Given the description of an element on the screen output the (x, y) to click on. 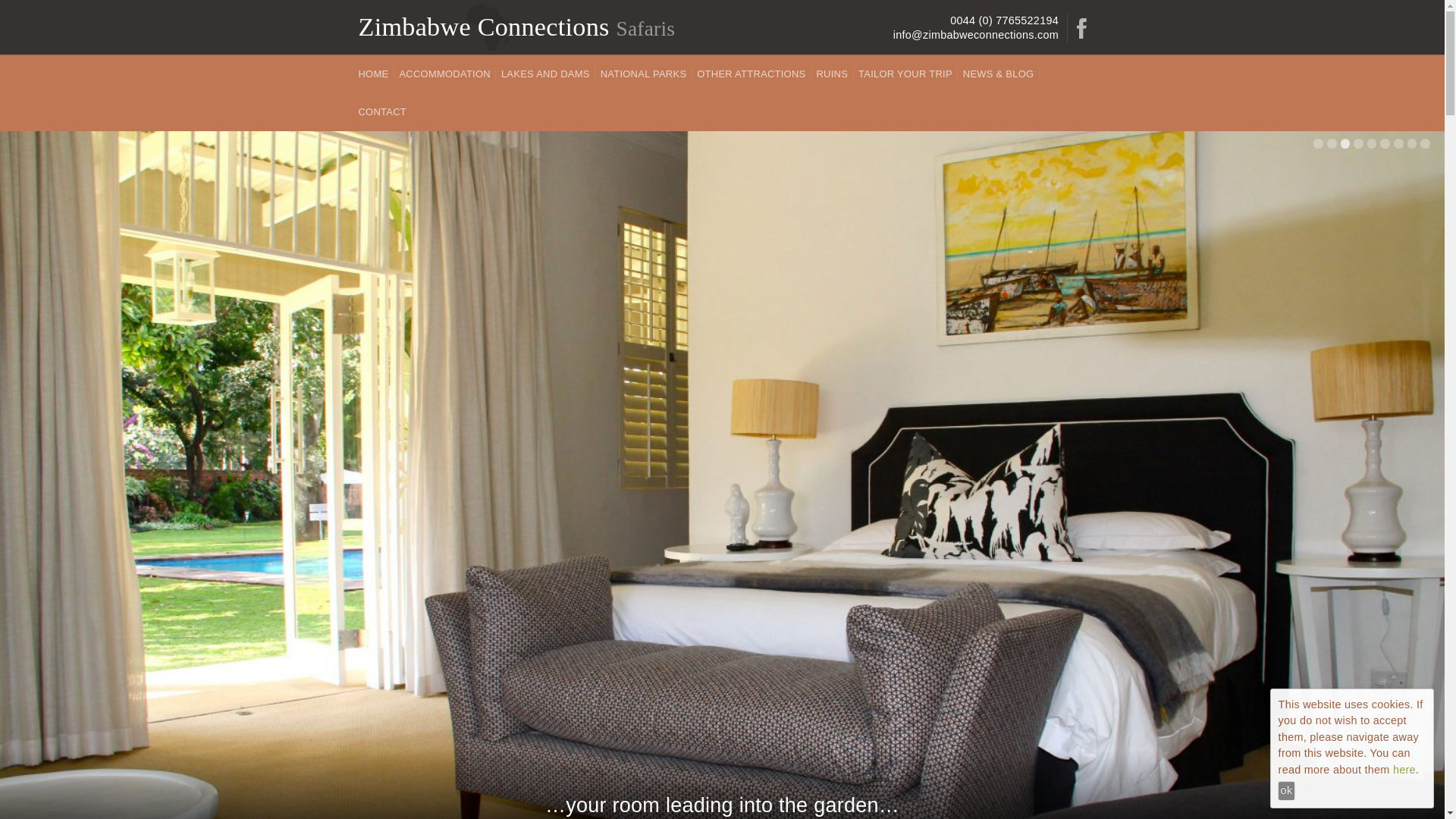
HOME (375, 73)
ACCOMMODATION (447, 73)
Zimbabwe Connections Safaris (516, 27)
ok (1286, 791)
here (1404, 769)
